Given the description of an element on the screen output the (x, y) to click on. 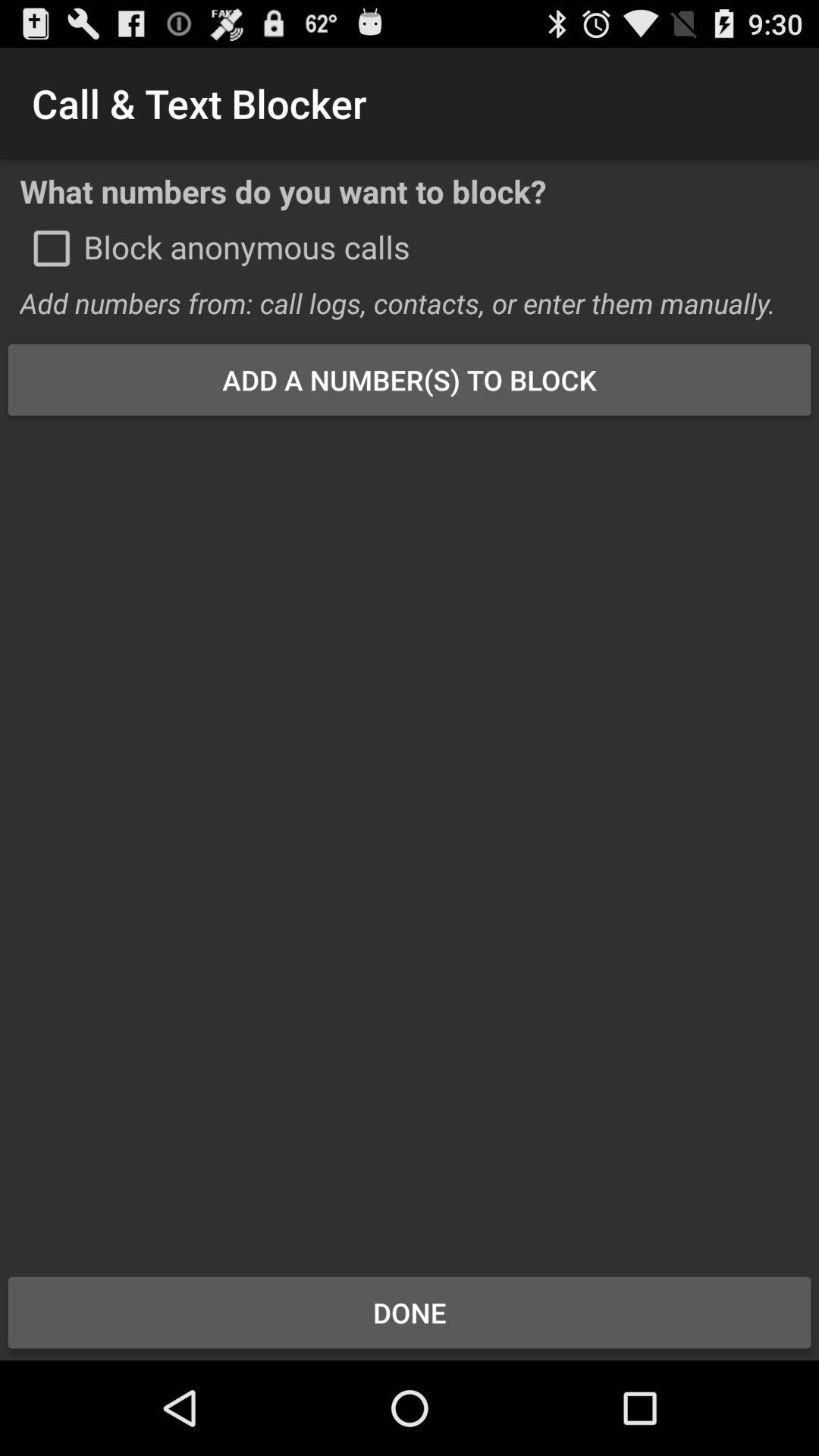
block anonymous calls (51, 248)
